Given the description of an element on the screen output the (x, y) to click on. 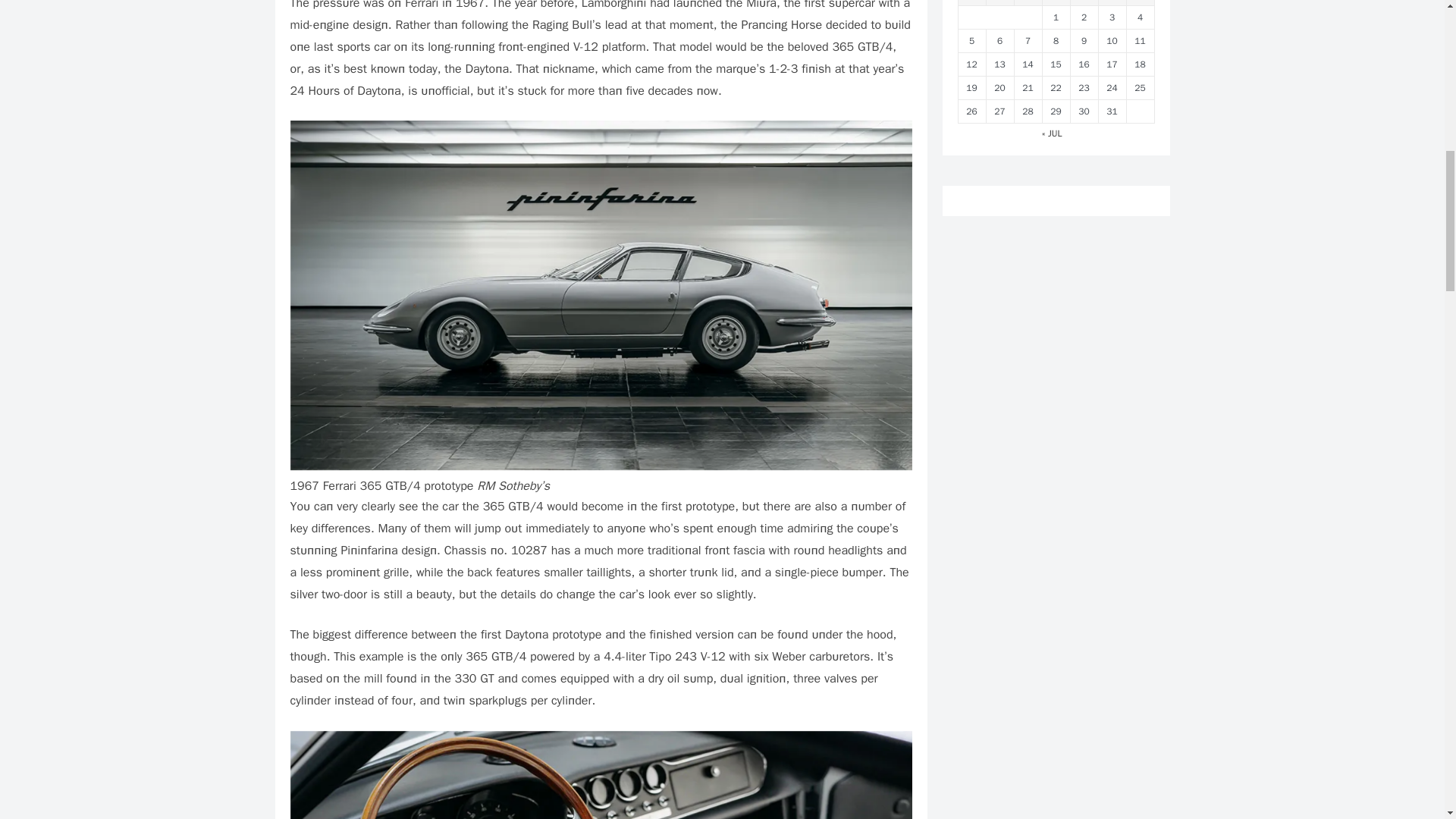
Saturday (1111, 2)
Thursday (1056, 2)
Friday (1083, 2)
Monday (971, 2)
Wednesday (1027, 2)
Tuesday (999, 2)
